Given the description of an element on the screen output the (x, y) to click on. 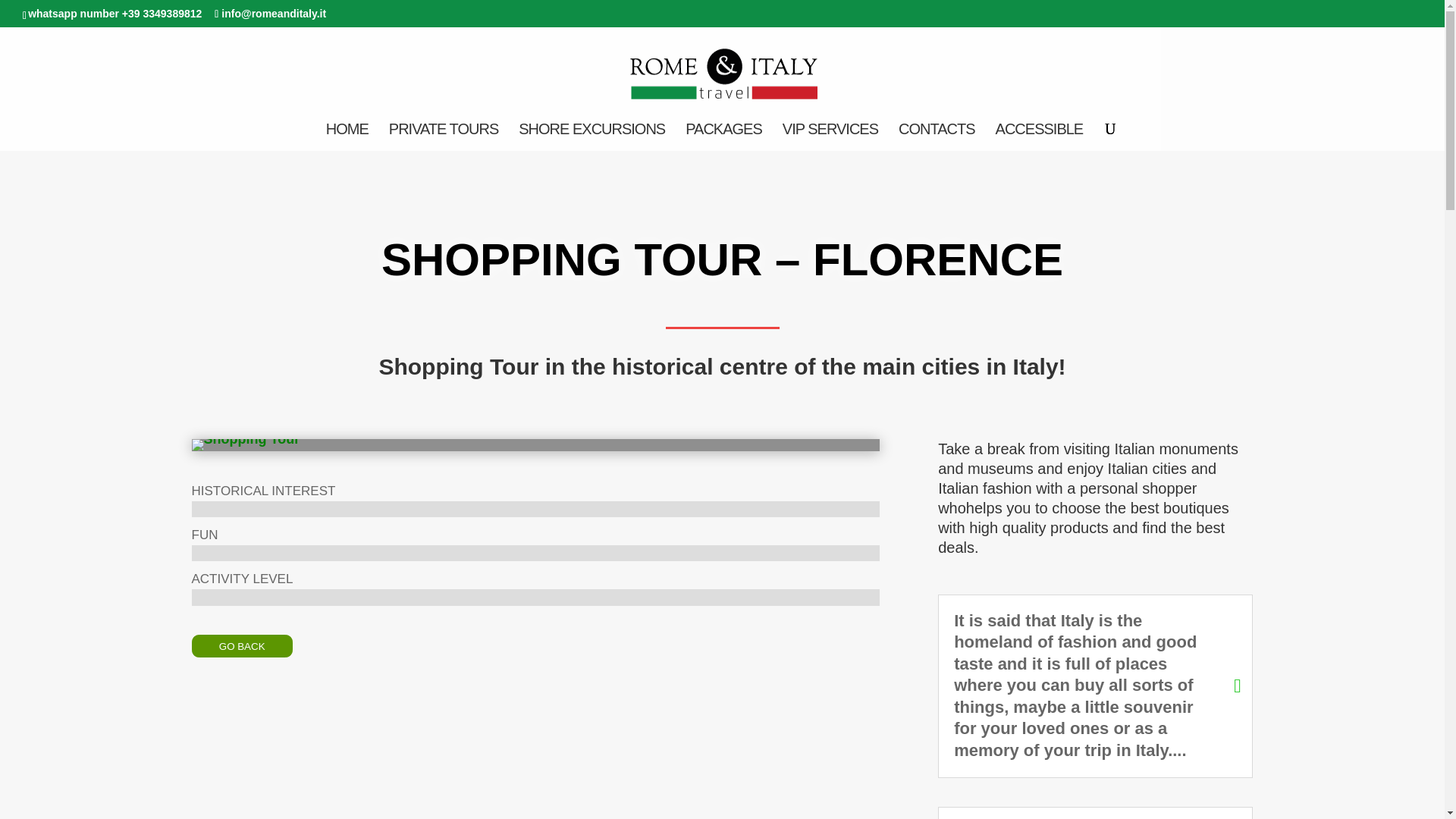
Shopping Tour (244, 450)
PACKAGES (723, 136)
ACCESSIBLE (1039, 136)
CONTACTS (936, 136)
HOME (347, 136)
PRIVATE TOURS (442, 136)
GO BACK (241, 645)
VIP SERVICES (830, 136)
SHORE EXCURSIONS (591, 136)
